Given the description of an element on the screen output the (x, y) to click on. 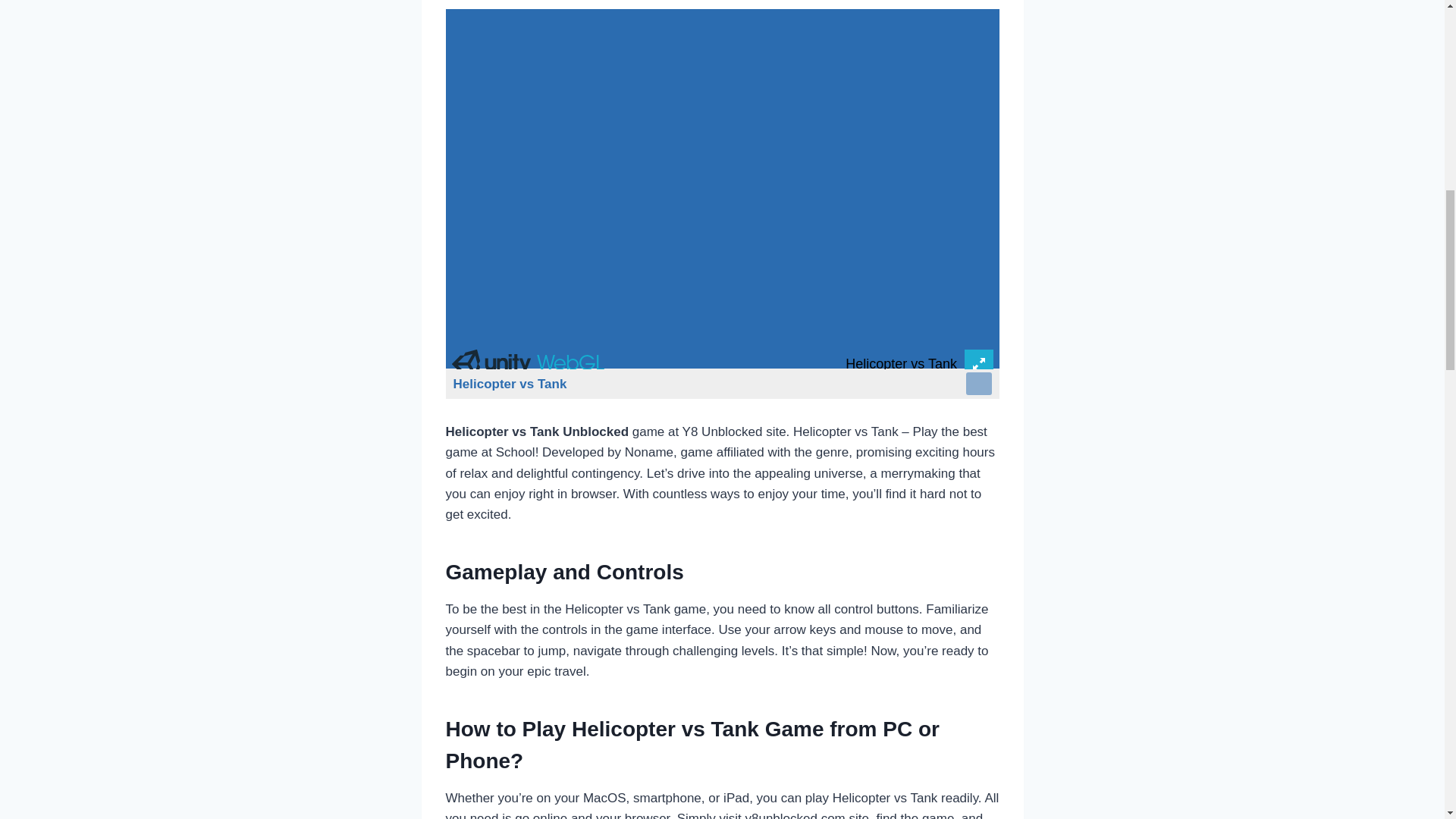
zoom (978, 383)
